Given the description of an element on the screen output the (x, y) to click on. 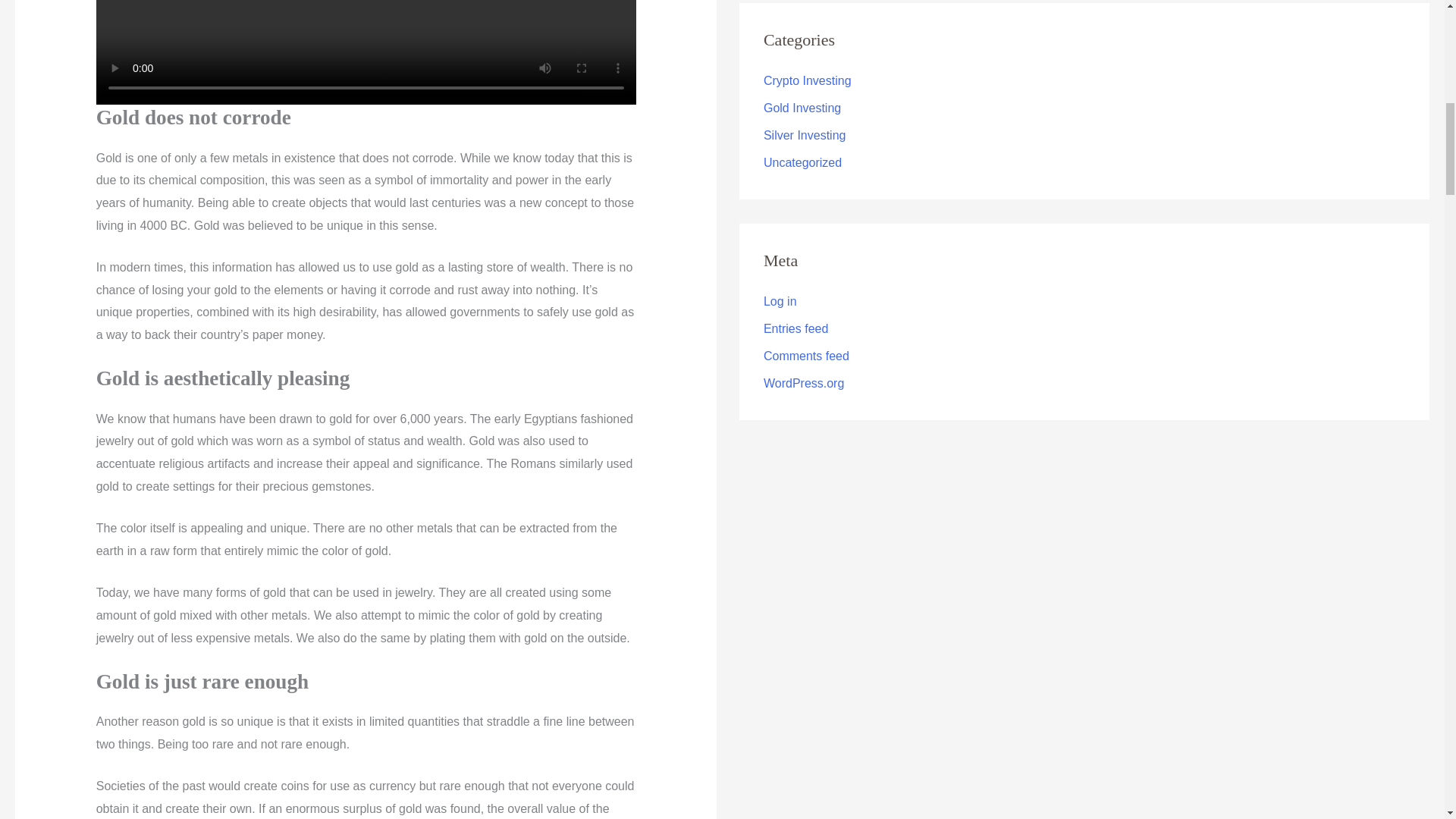
Comments feed (805, 355)
WordPress.org (803, 382)
Crypto Investing (806, 80)
Log in (779, 300)
Entries feed (795, 328)
Uncategorized (801, 162)
Gold Investing (801, 107)
Silver Investing (803, 134)
